Given the description of an element on the screen output the (x, y) to click on. 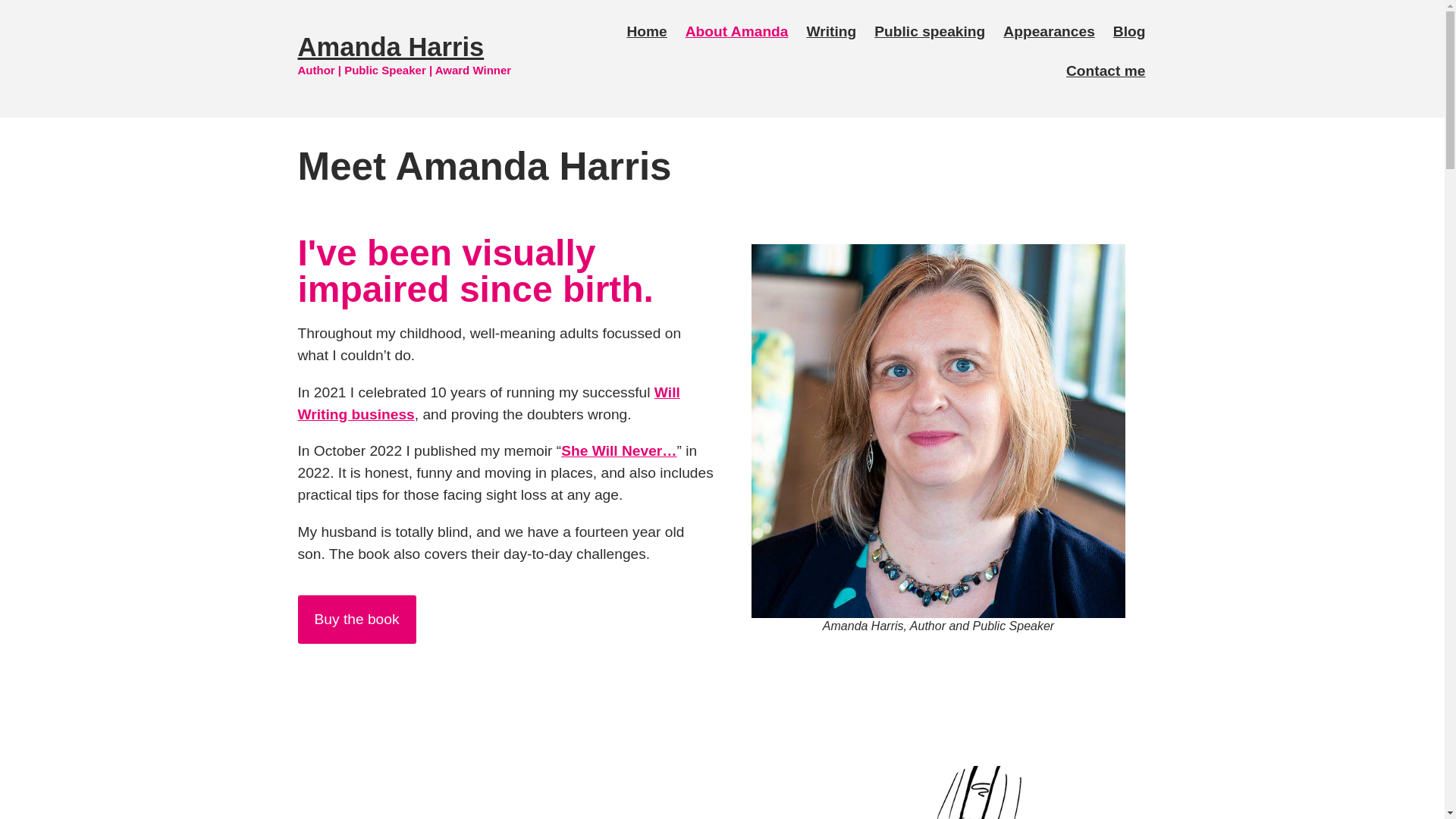
Back to homepage (390, 46)
Buy the book (355, 618)
About Amanda (737, 31)
Public speaking (929, 31)
Will Writing business (488, 403)
Purchase She Will Never via Amazon (355, 618)
Writing (831, 31)
Amanda Harris (390, 46)
Home (646, 31)
Appearances (1048, 31)
Contact me (1105, 70)
Blog (1128, 31)
